Given the description of an element on the screen output the (x, y) to click on. 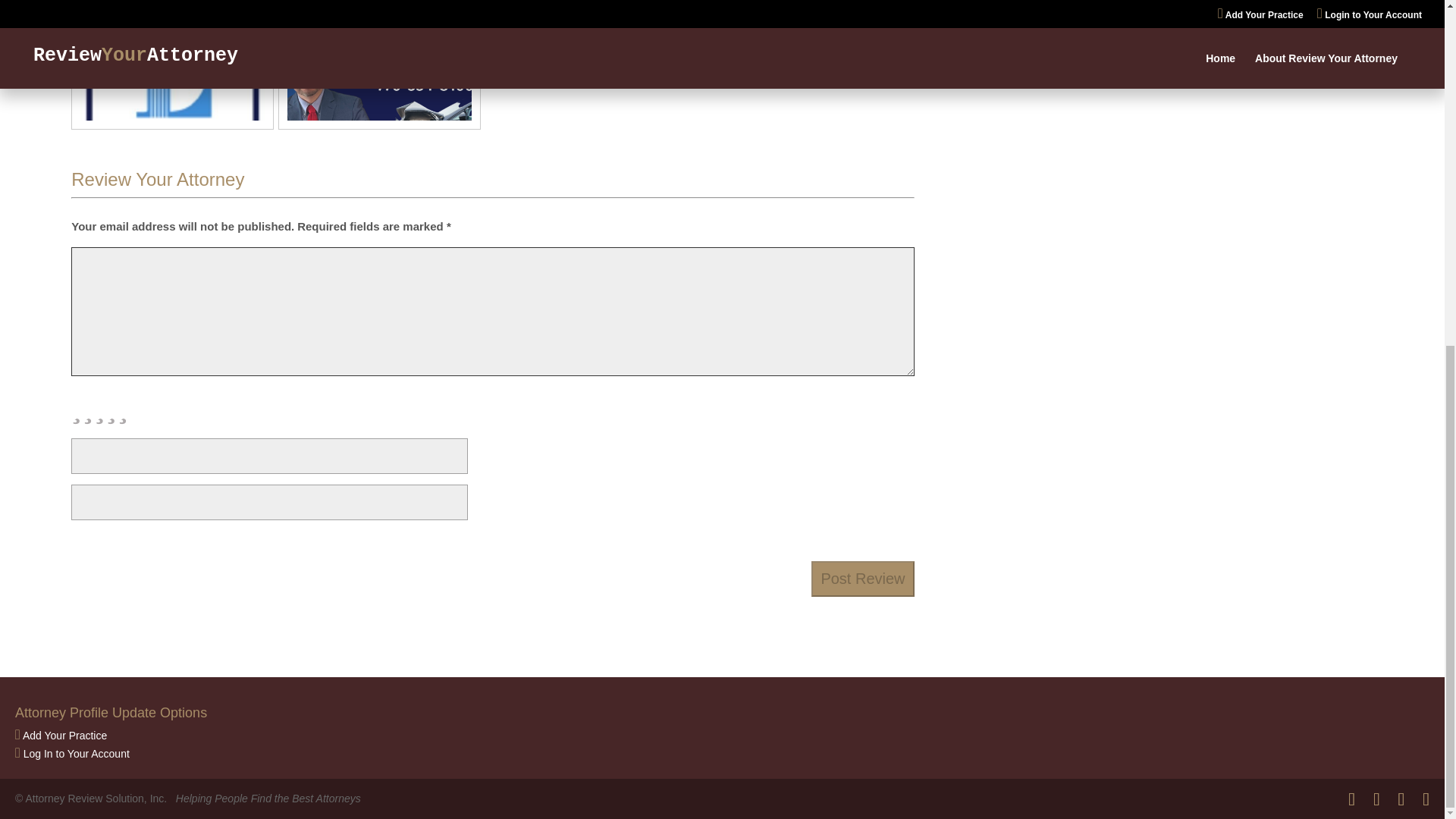
Review Your Attorney (157, 178)
companyPhotoUrl1 (378, 62)
Personal Injury Attorneys (1169, 11)
companyLogoUrl (172, 62)
Add Your Practice (64, 735)
Post Review (862, 579)
Login (76, 753)
Post Review (862, 579)
